Given the description of an element on the screen output the (x, y) to click on. 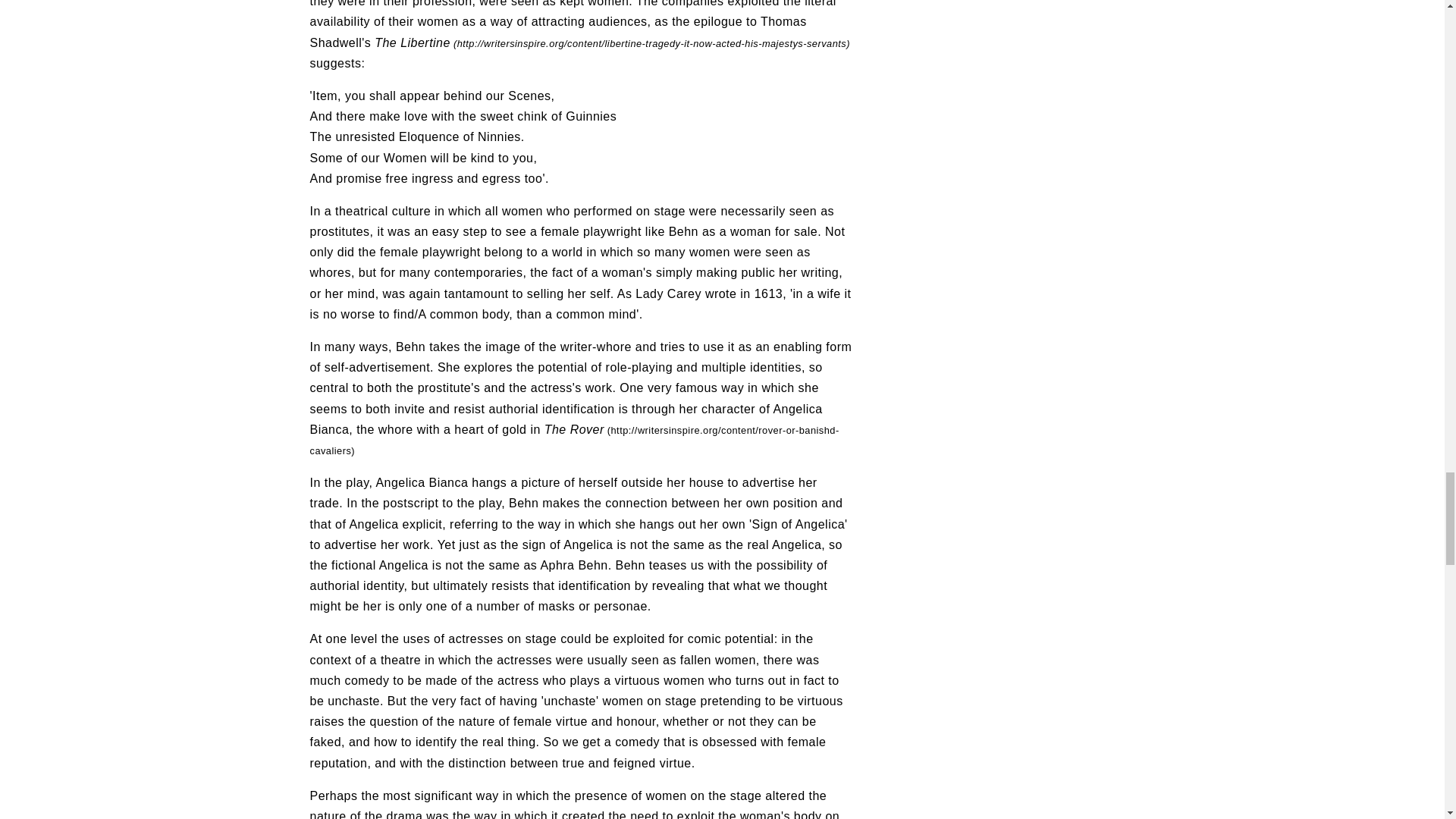
The Rover (573, 439)
The Libertine (612, 42)
